Given the description of an element on the screen output the (x, y) to click on. 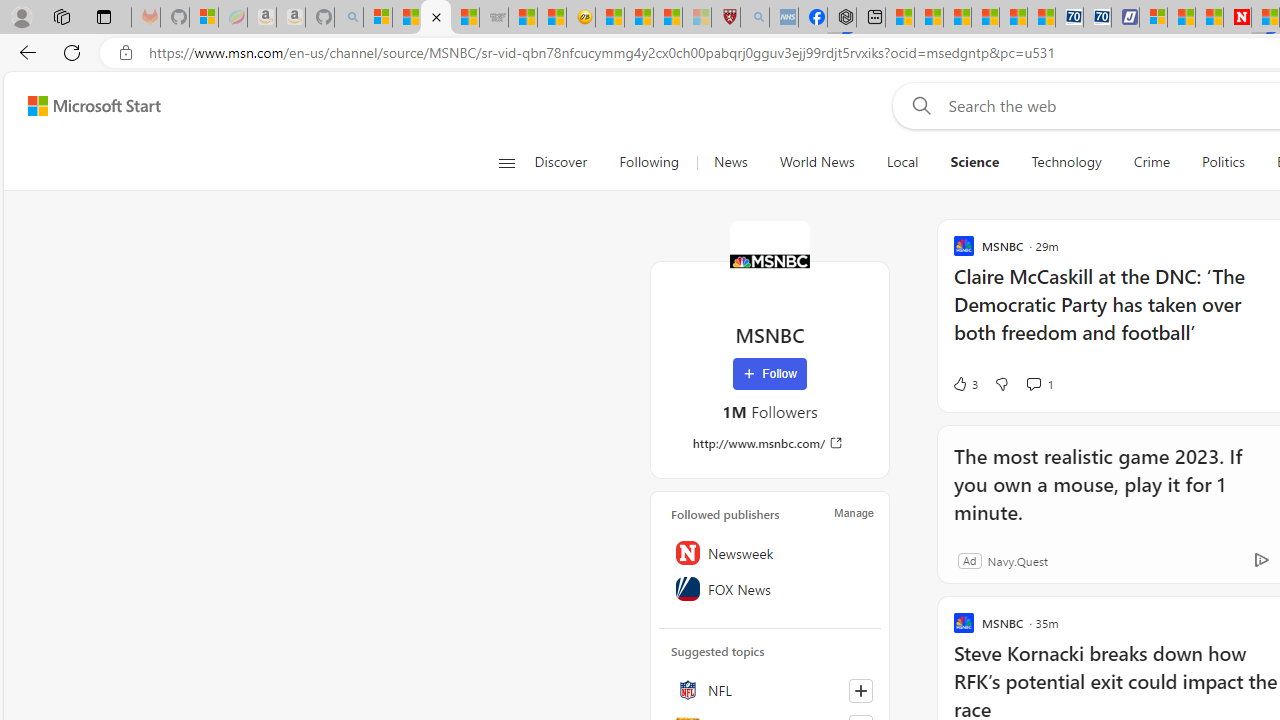
View comments 1 Comment (1033, 383)
FOX News (770, 588)
Follow this topic (860, 690)
Follow (769, 373)
